Given the description of an element on the screen output the (x, y) to click on. 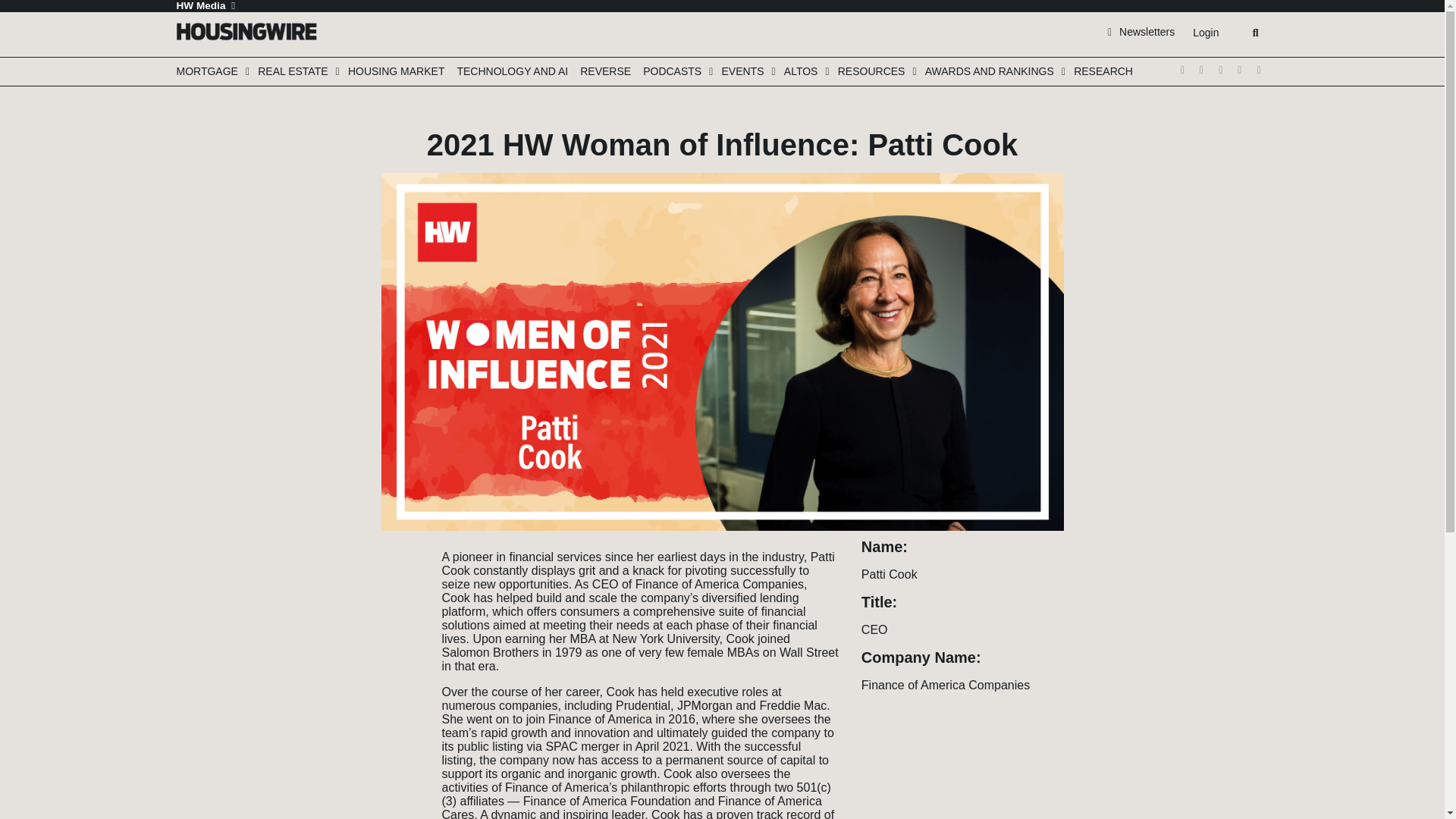
Newsletters (1141, 31)
Click to share on LinkedIn (398, 597)
Click to share on Twitter (398, 552)
Click to email a link to a friend (398, 620)
Click to share on Facebook (398, 575)
Click to copy link (398, 643)
Login (1205, 32)
